Given the description of an element on the screen output the (x, y) to click on. 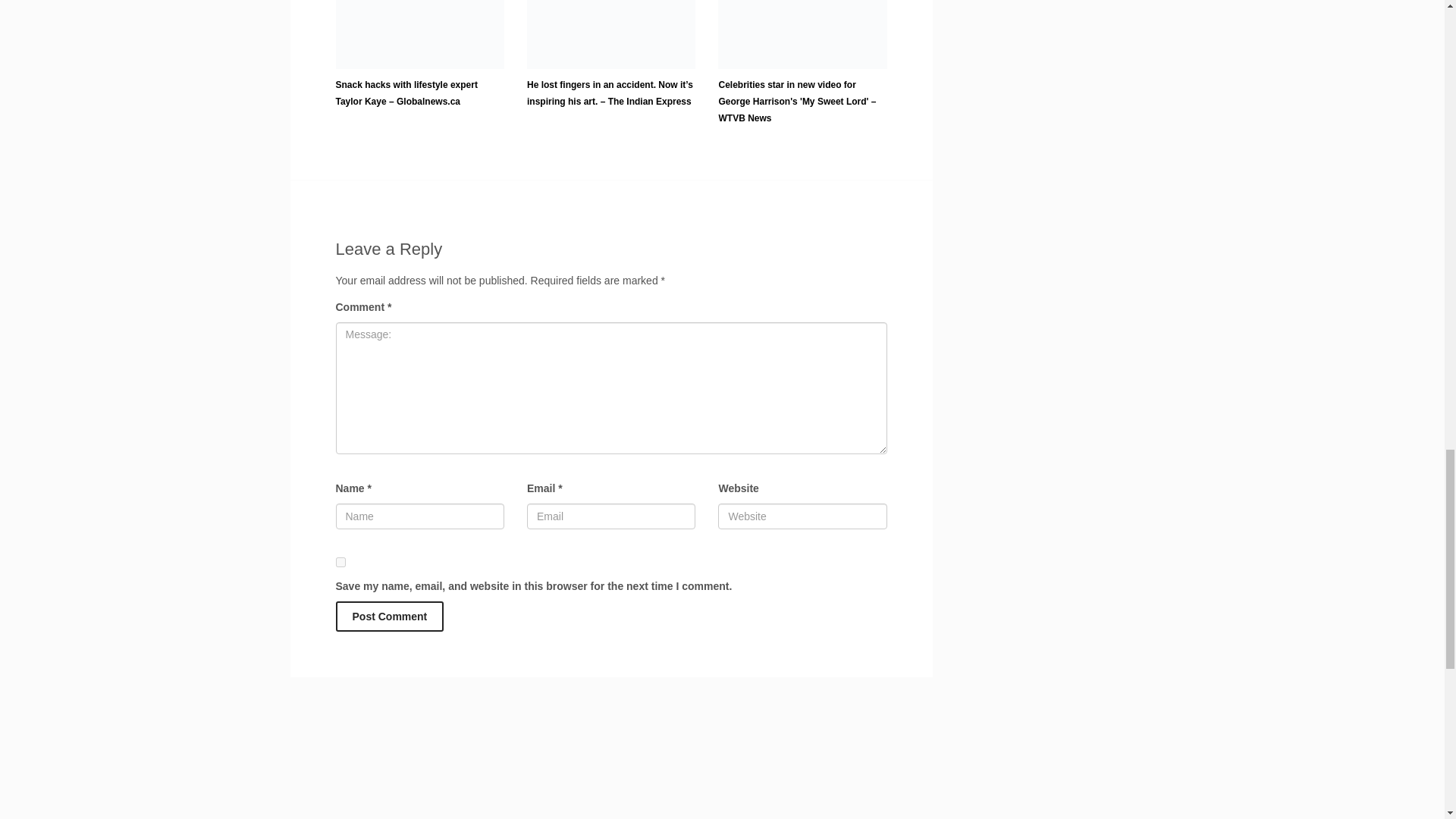
yes (339, 562)
Post Comment (389, 616)
